Given the description of an element on the screen output the (x, y) to click on. 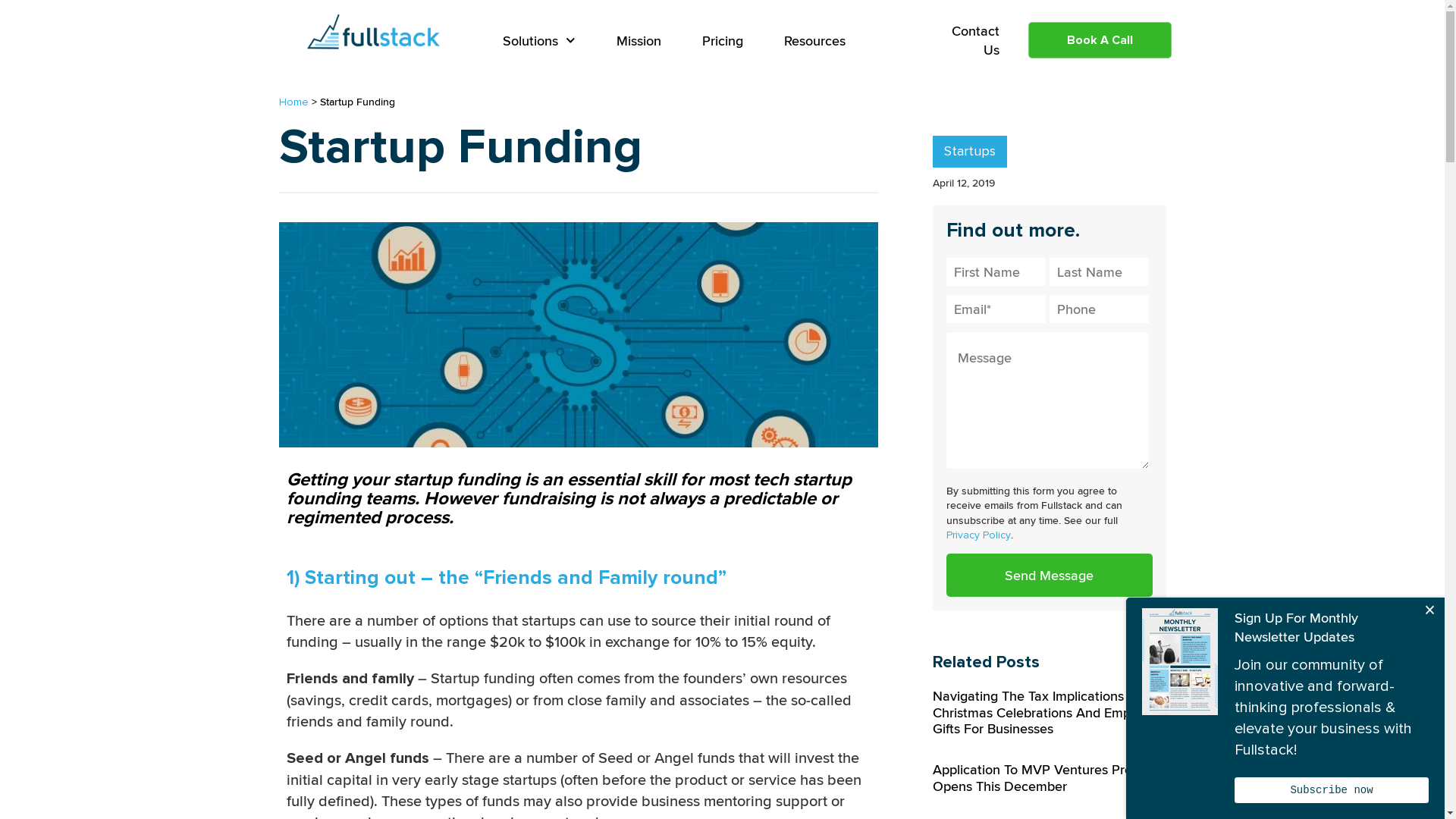
Solutions Element type: text (538, 40)
Startups Element type: text (969, 150)
Pricing Element type: text (722, 40)
Home Element type: text (293, 101)
Privacy Policy Element type: text (978, 534)
Contact Us Element type: text (965, 40)
Send Message Element type: text (1048, 574)
Application To MVP Ventures Program Opens This December Element type: text (1047, 777)
Mission Element type: text (638, 40)
Resources Element type: text (814, 40)
Book A Call Element type: text (1099, 39)
Subscribe now Element type: text (1331, 790)
